Given the description of an element on the screen output the (x, y) to click on. 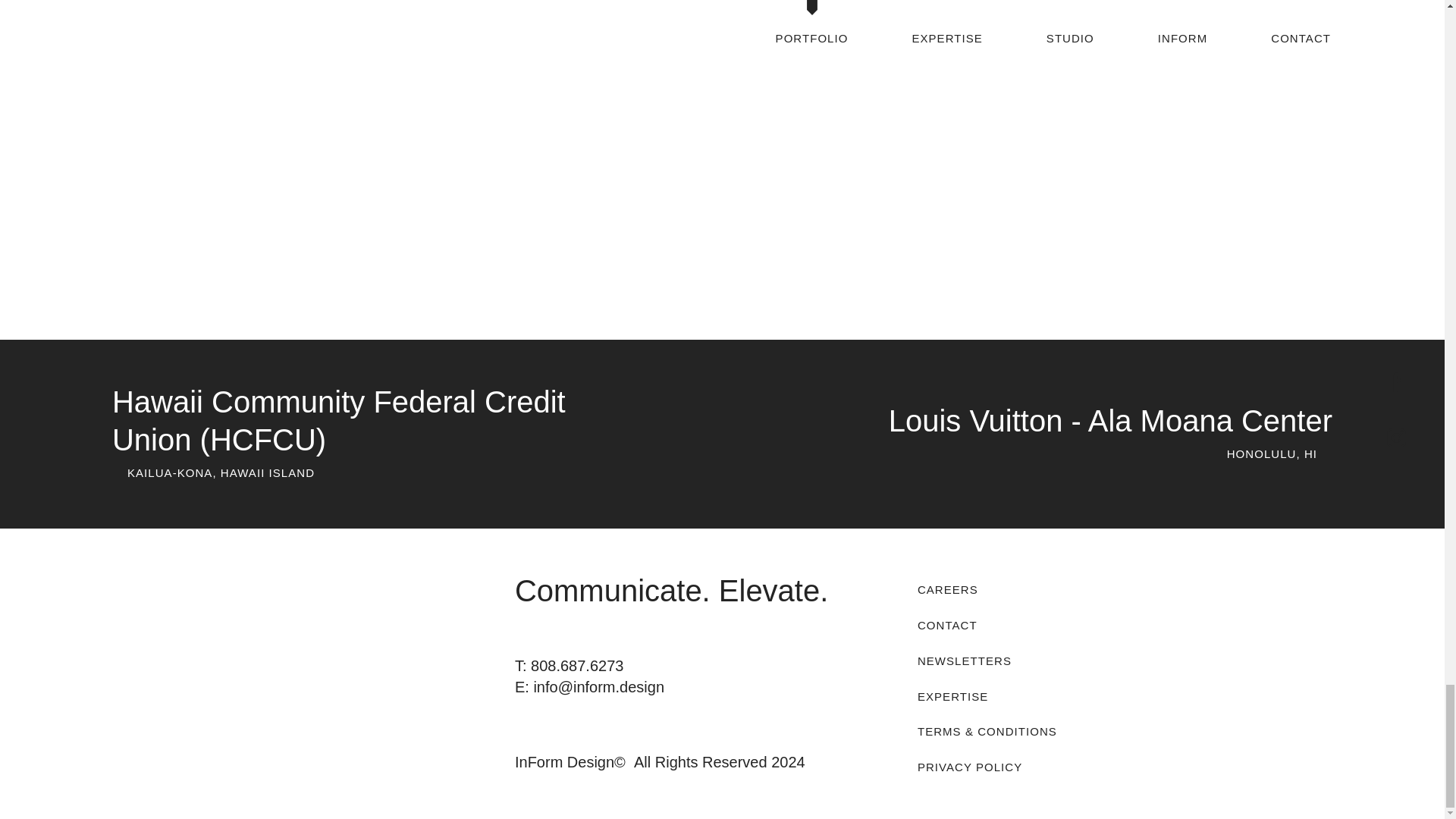
EXPERTISE (1008, 695)
CAREERS (1008, 588)
CONTACT (1008, 624)
NEWSLETTERS (1008, 660)
T: 808.687.6273 (569, 665)
PRIVACY POLICY (1008, 765)
